Given the description of an element on the screen output the (x, y) to click on. 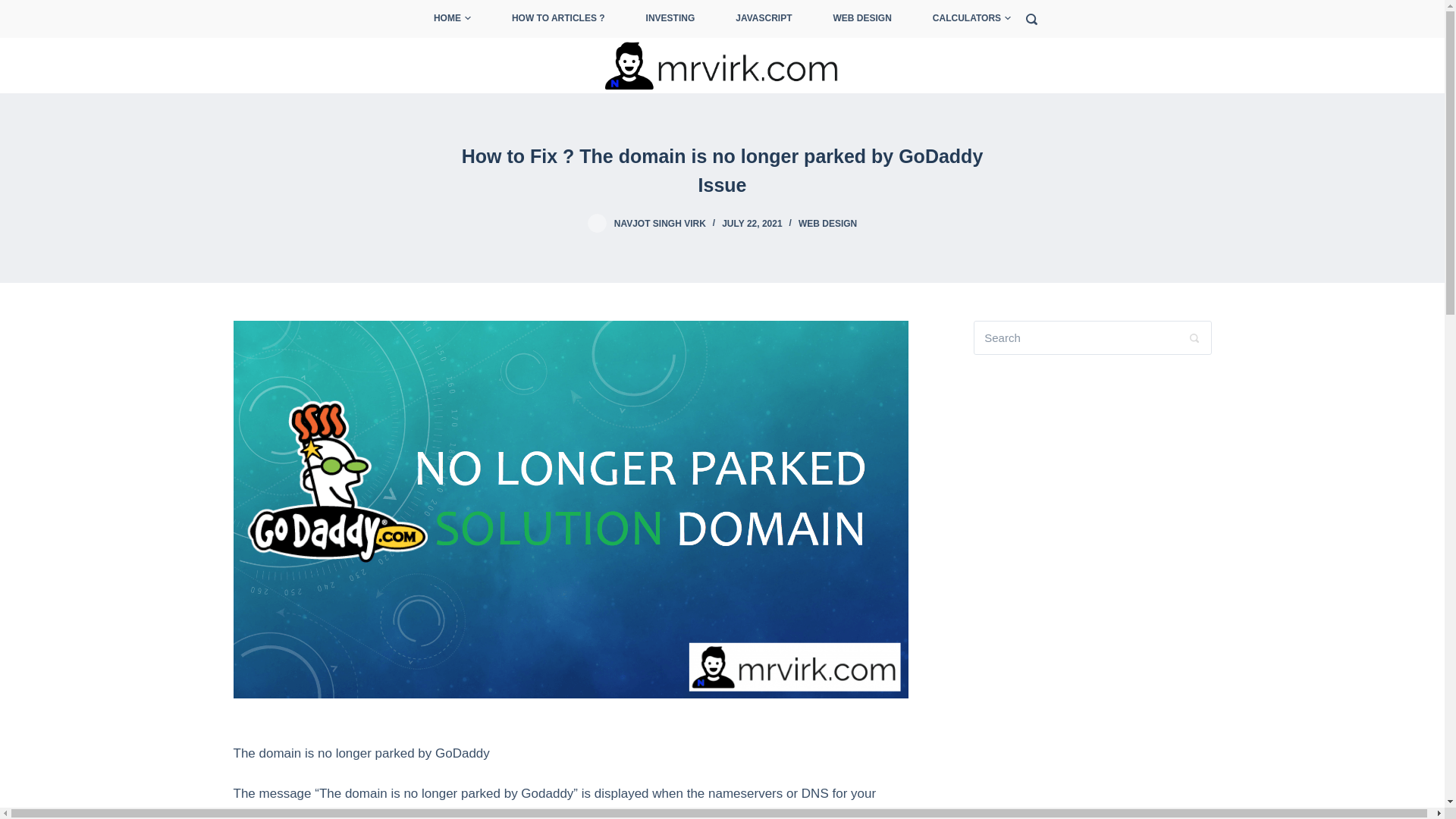
INVESTING (671, 18)
Skip to content (15, 7)
HOW TO ARTICLES ? (559, 18)
JAVASCRIPT (763, 18)
NAVJOT SINGH VIRK (660, 223)
CALCULATORS (961, 18)
WEB DESIGN (862, 18)
Search Input (1092, 337)
HOME (462, 18)
Posts by Navjot Singh Virk (660, 223)
